Given the description of an element on the screen output the (x, y) to click on. 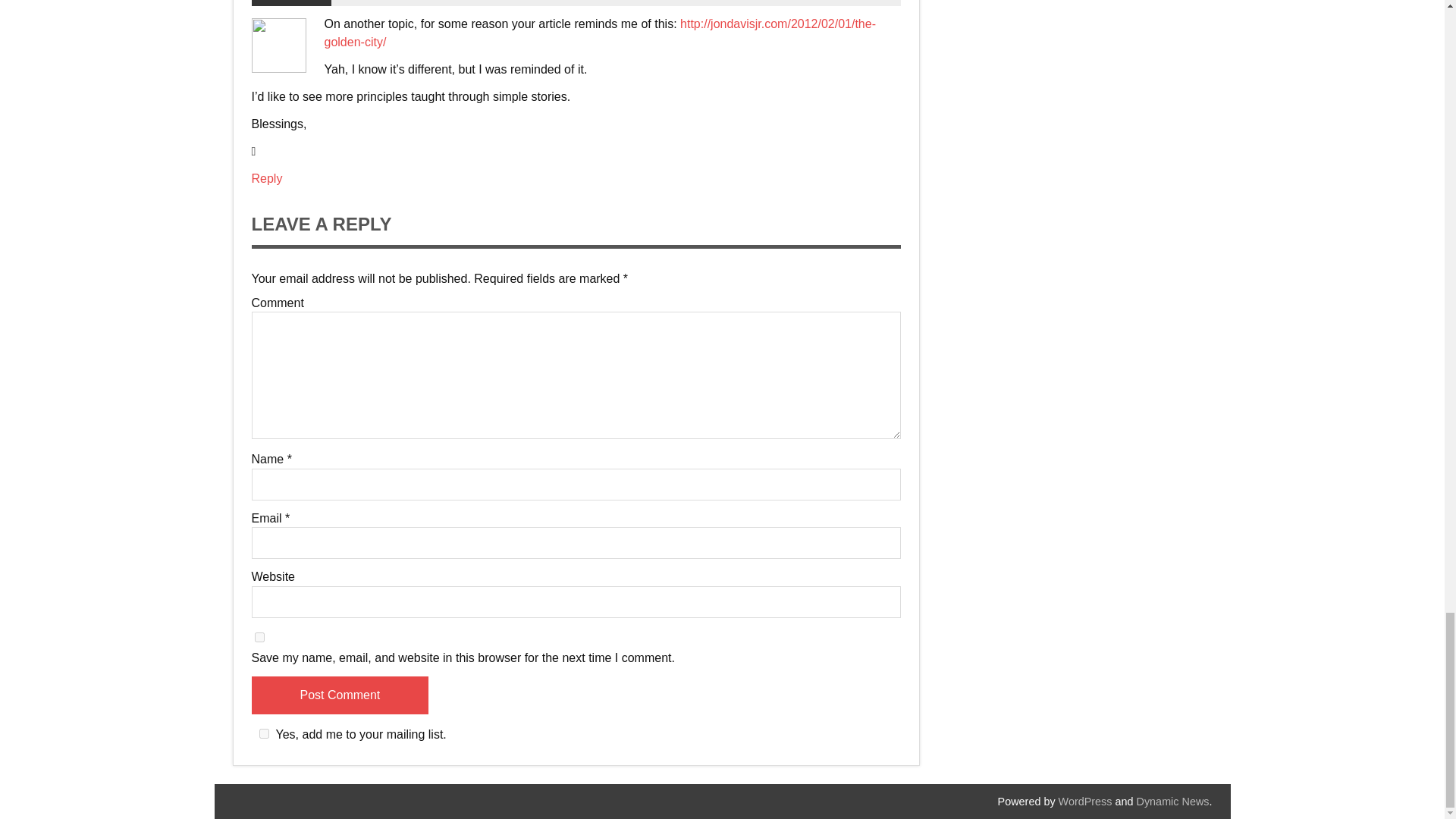
Dynamic News WordPress Theme (1173, 801)
yes (259, 637)
Post Comment (340, 695)
Post Comment (340, 695)
WordPress (1085, 801)
Reply (266, 178)
1 (263, 733)
